Given the description of an element on the screen output the (x, y) to click on. 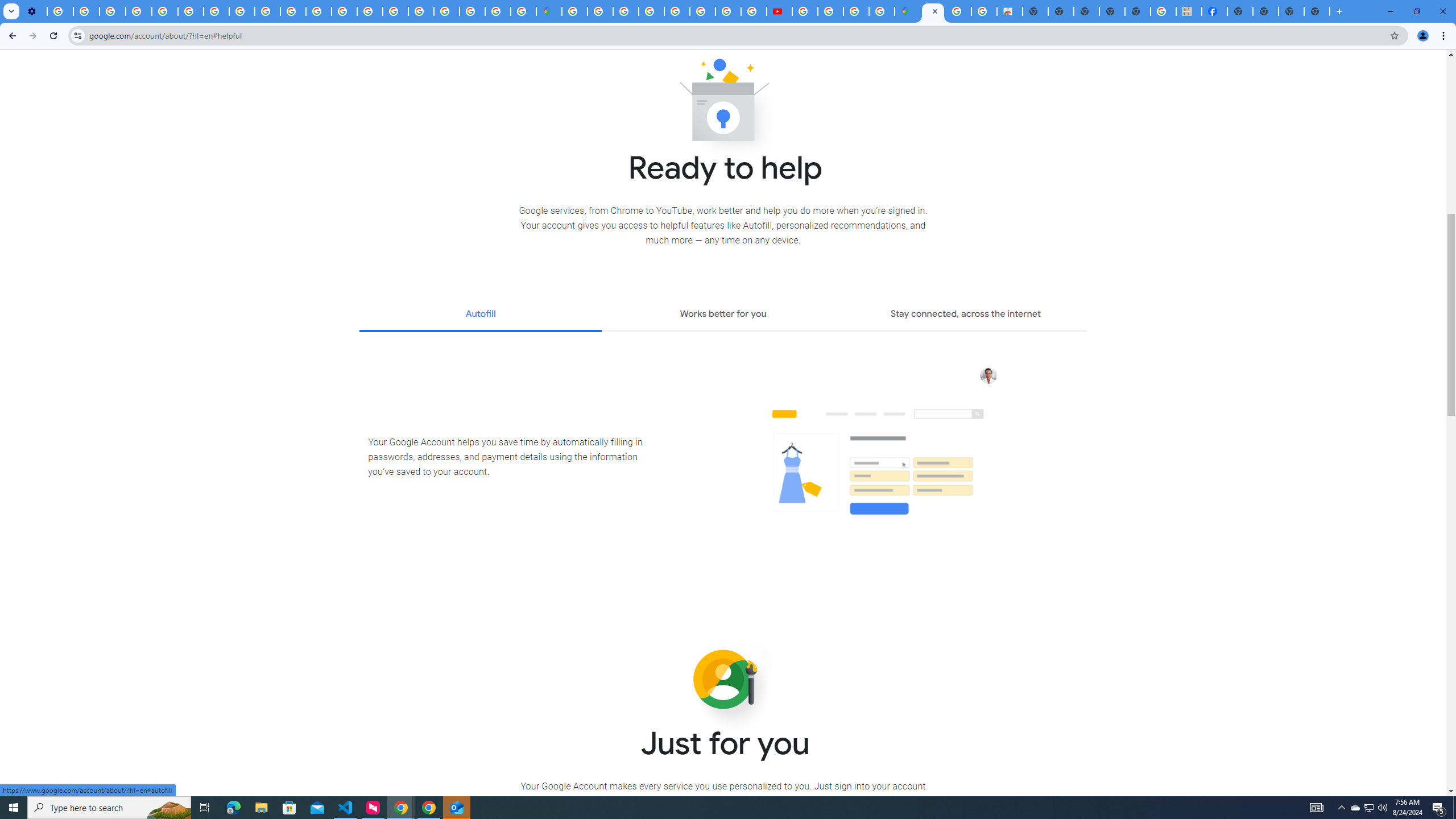
Privacy Checkup (266, 11)
New Tab (1316, 11)
Sign in - Google Accounts (574, 11)
Privacy Help Center - Policies Help (727, 11)
New Tab (1239, 11)
Delete photos & videos - Computer - Google Photos Help (60, 11)
